Given the description of an element on the screen output the (x, y) to click on. 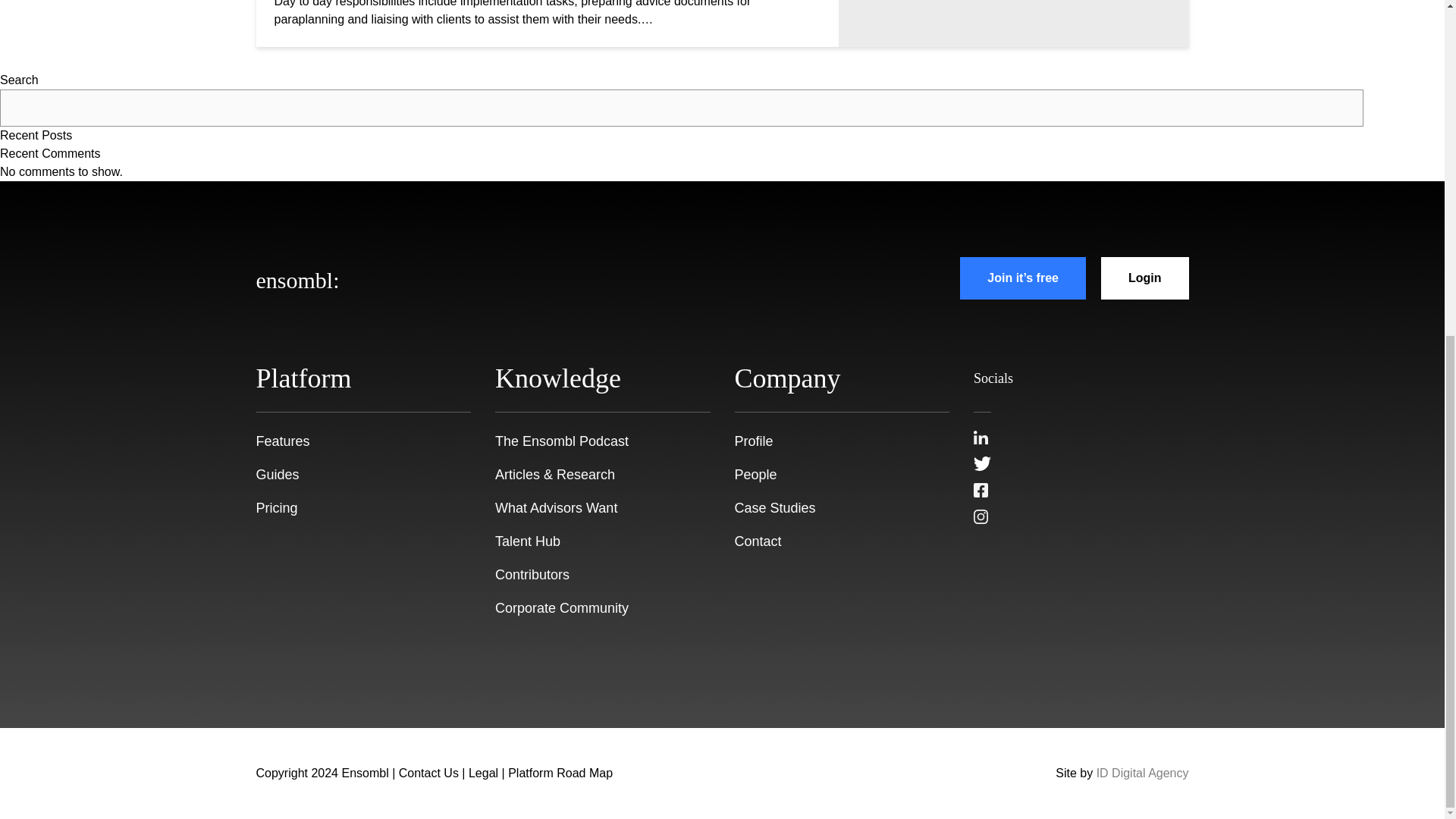
Guides (277, 474)
Platform (304, 378)
Features (283, 441)
Login (1144, 278)
ensombl: (297, 277)
